Given the description of an element on the screen output the (x, y) to click on. 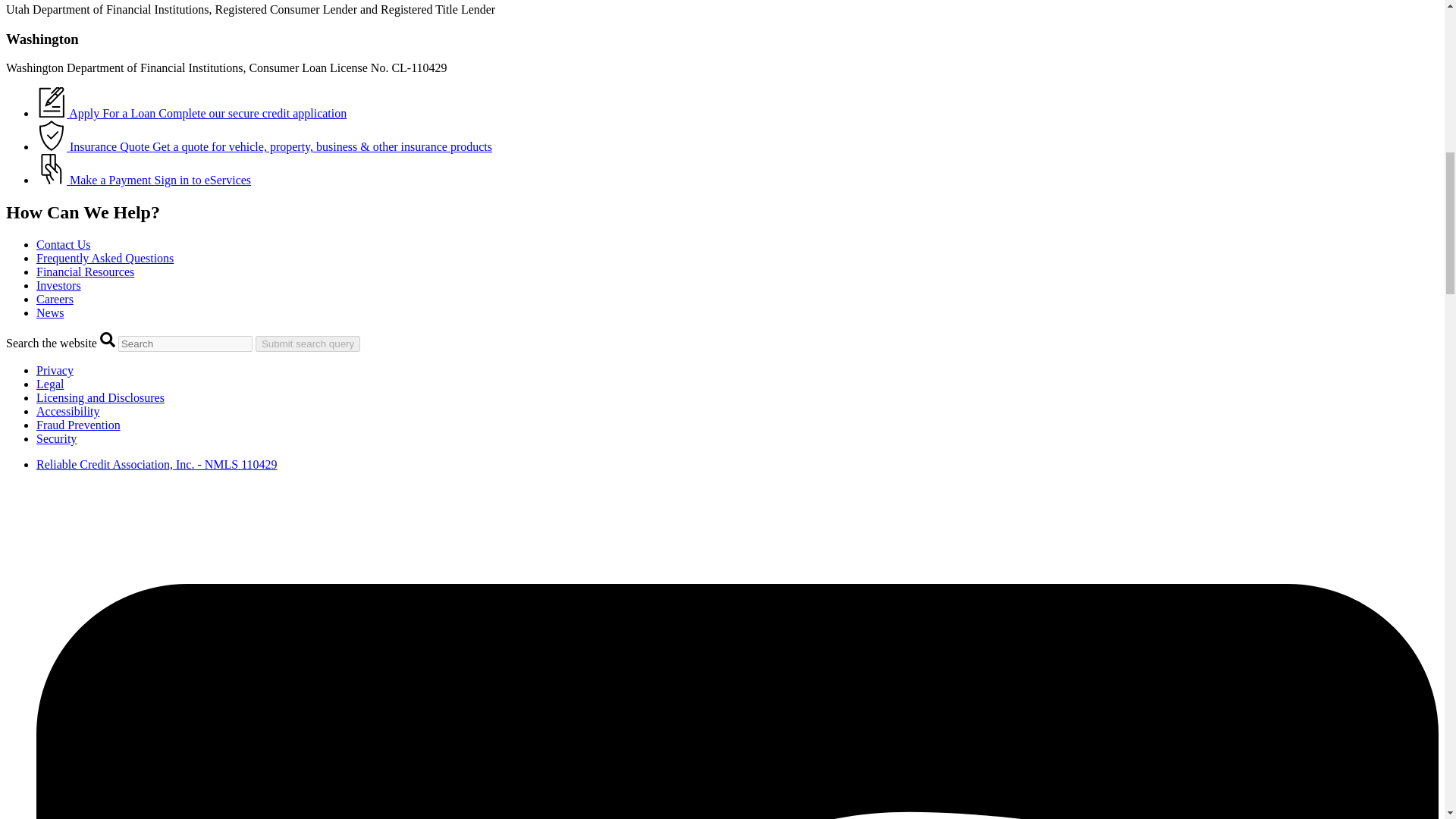
Fraud Prevention (78, 424)
Careers (55, 298)
Security (56, 438)
Submit search query (307, 343)
Accessibility (68, 410)
Financial Resources (84, 271)
News (50, 312)
Investors (58, 285)
Licensing and Disclosures (100, 397)
Apply For a Loan Complete our secure credit application (191, 113)
Reliable Credit Association, Inc. - NMLS 110429 (157, 463)
Contact Us (63, 244)
Frequently Asked Questions (104, 257)
Privacy (55, 369)
Make a Payment Sign in to eServices (143, 179)
